Given the description of an element on the screen output the (x, y) to click on. 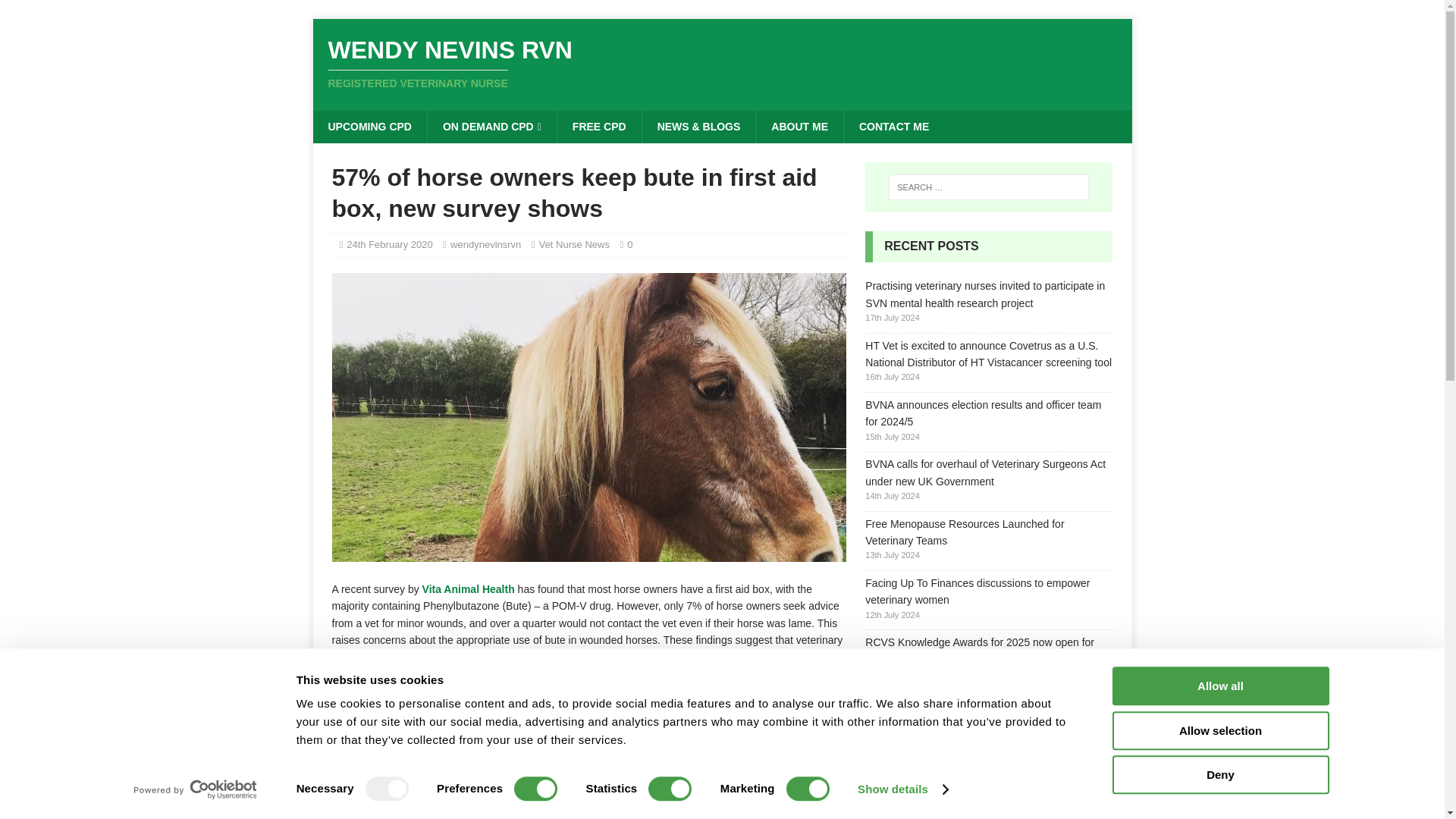
Deny (1219, 774)
Allow all (1219, 685)
Show details (902, 789)
UPCOMING CPD (369, 126)
ON DEMAND CPD (491, 126)
Allow selection (1219, 730)
Wendy Nevins RVN (721, 63)
